Given the description of an element on the screen output the (x, y) to click on. 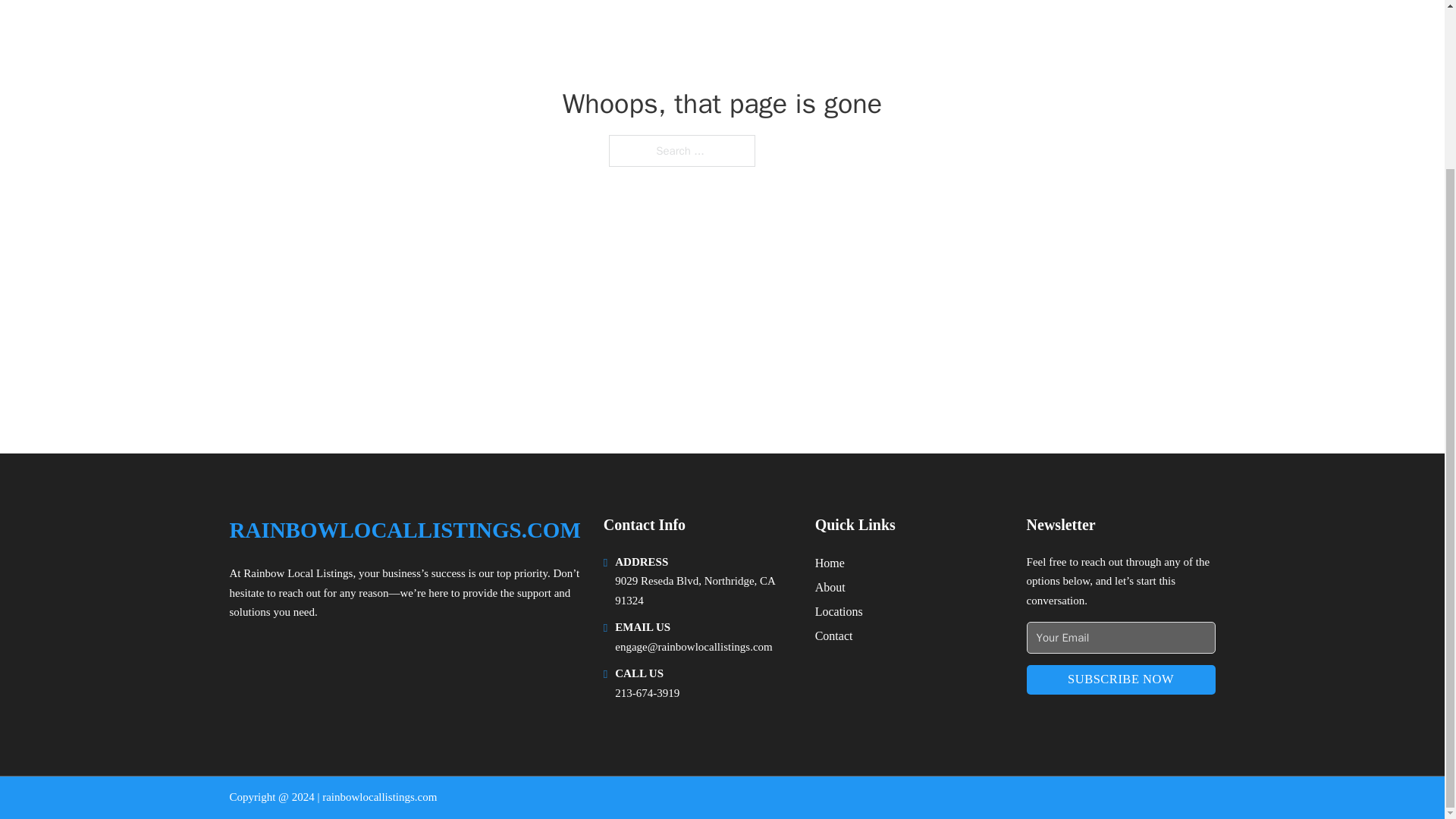
SUBSCRIBE NOW (1120, 679)
213-674-3919 (646, 693)
About (830, 587)
RAINBOWLOCALLISTINGS.COM (403, 529)
Contact (834, 635)
Home (829, 562)
Locations (839, 611)
